Given the description of an element on the screen output the (x, y) to click on. 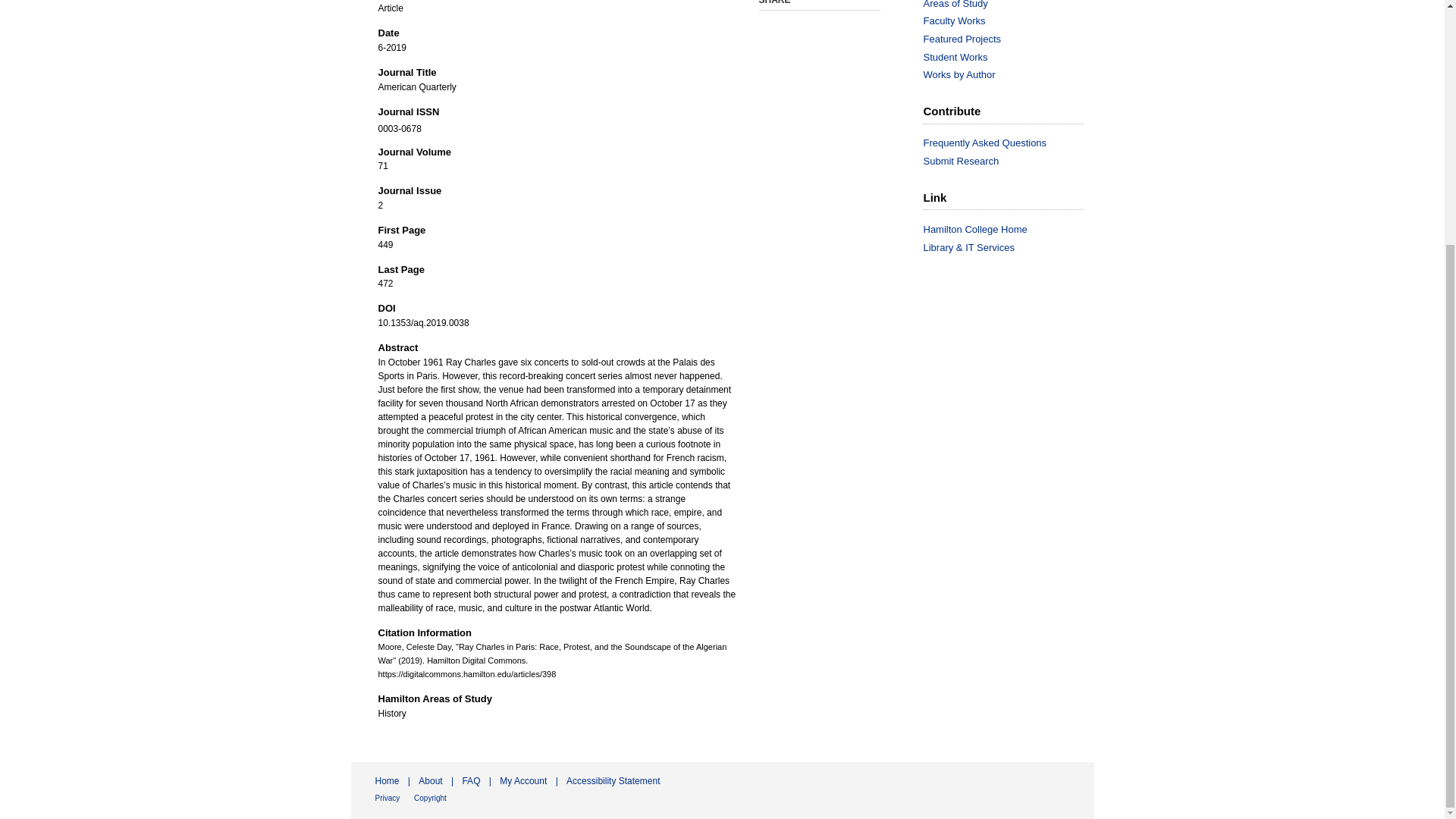
Browse by Faculty Works (1008, 21)
Hamilton College Home (1008, 229)
Areas of Study (1008, 4)
Submit Research (1008, 161)
Student Works (1008, 57)
Featured Projects (1008, 39)
Works by Author (1008, 74)
Browse by Disciplines (1008, 4)
Frequently Asked Questions (1008, 143)
Faculty Works (1008, 21)
